Given the description of an element on the screen output the (x, y) to click on. 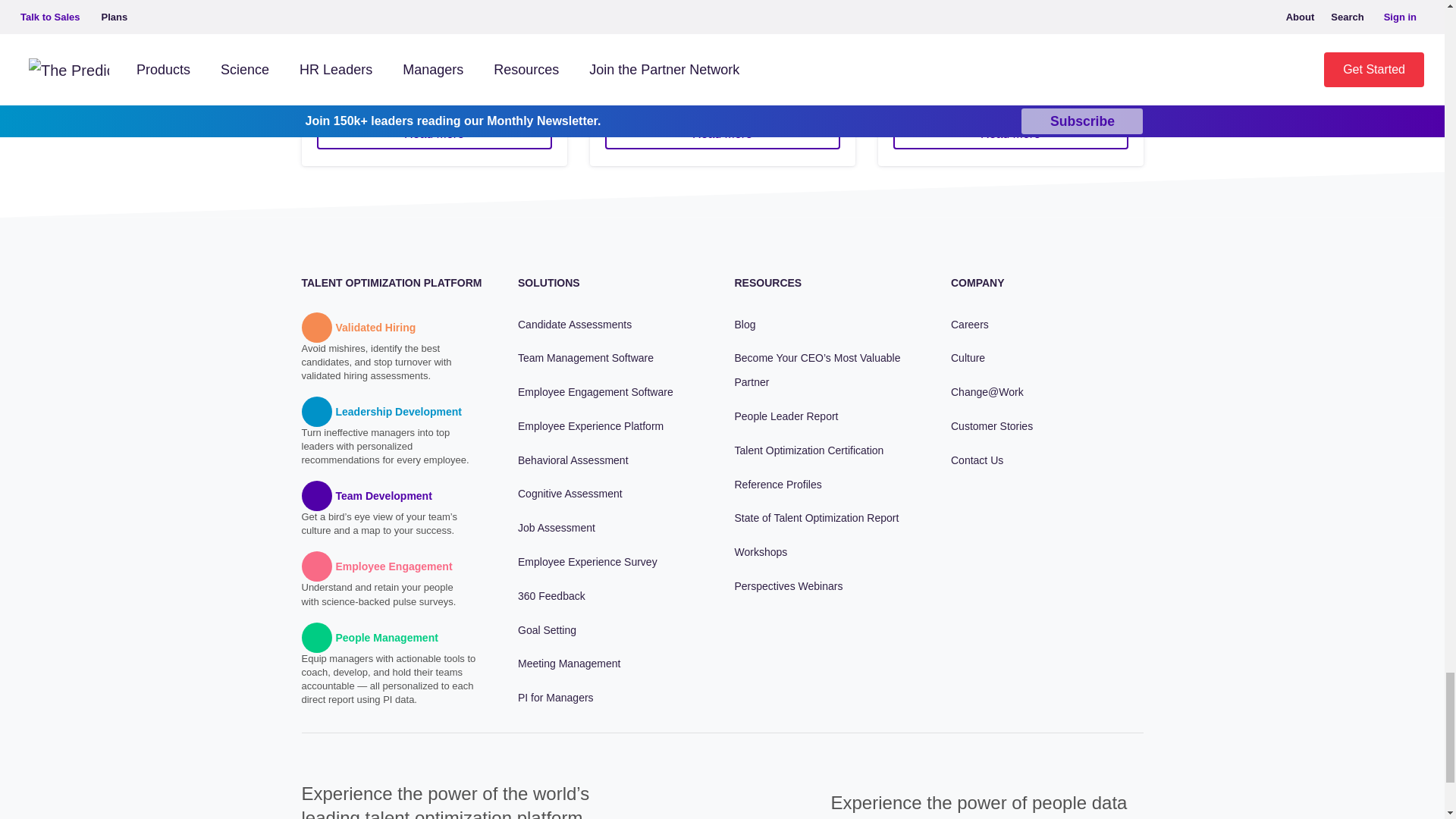
Get advice from top CEOs (434, 133)
CEOs say this is their No. 1 challenge heading into 2021. (1010, 133)
Inspiring business advice from Drift CEO David Cancel (722, 133)
